Given the description of an element on the screen output the (x, y) to click on. 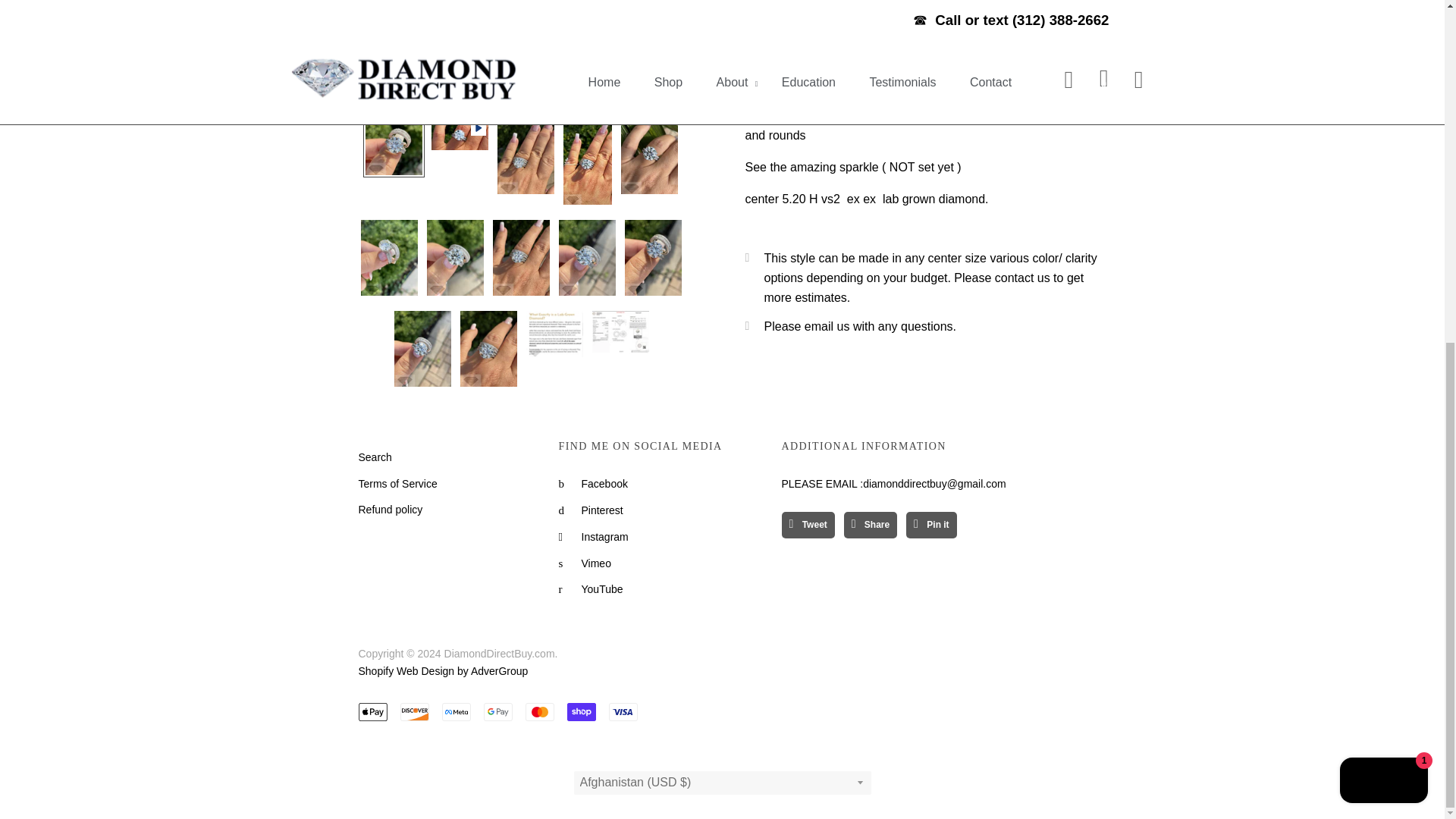
Shopify online store chat (1383, 198)
